Given the description of an element on the screen output the (x, y) to click on. 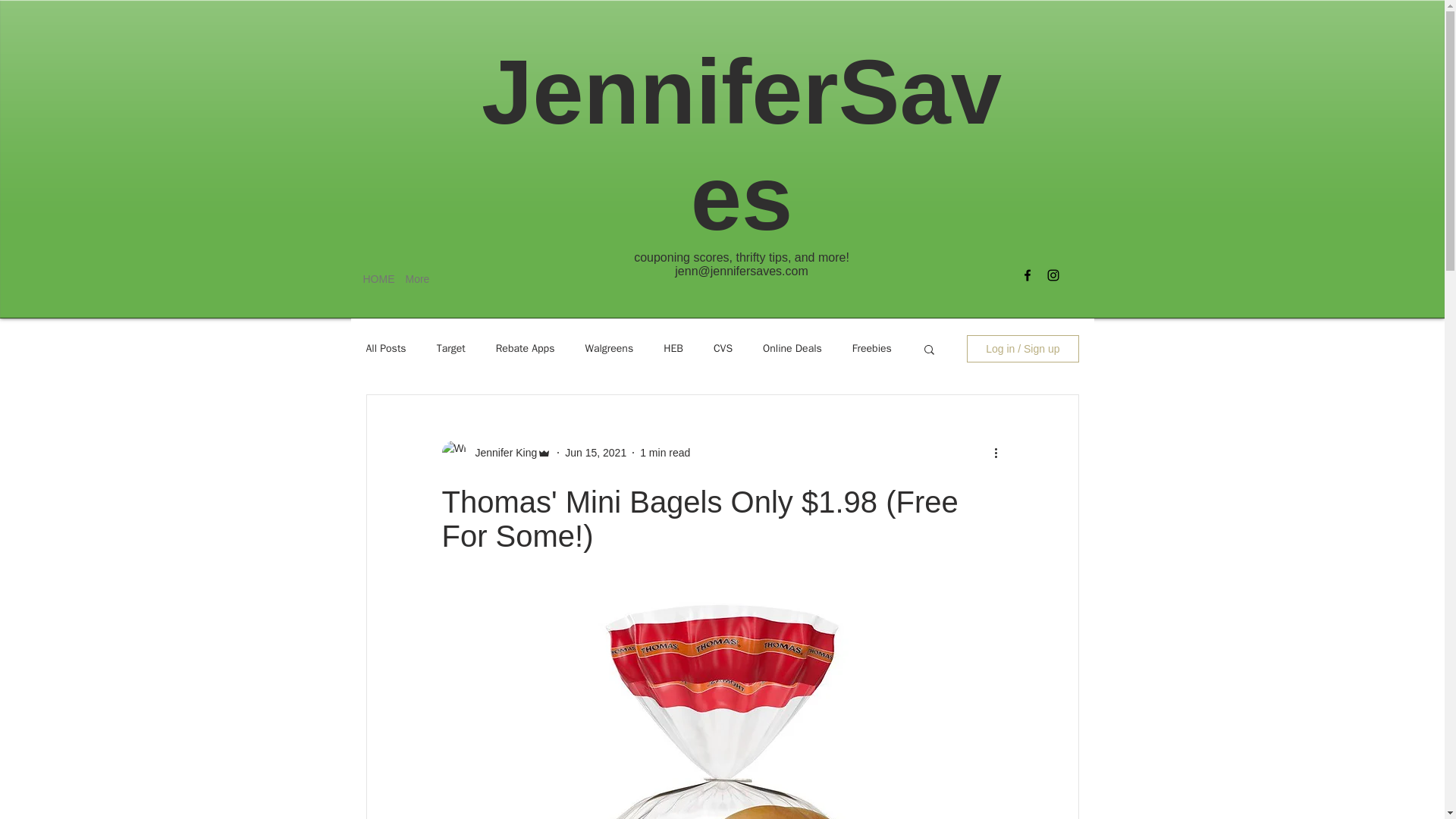
Jun 15, 2021 (595, 451)
1 min read (665, 451)
Freebies (871, 348)
All Posts (385, 348)
HEB (672, 348)
Online Deals (792, 348)
Rebate Apps (525, 348)
Jennifer King (501, 452)
Walgreens (609, 348)
JenniferSaves (741, 144)
CVS (722, 348)
HOME (373, 279)
Target (450, 348)
